Given the description of an element on the screen output the (x, y) to click on. 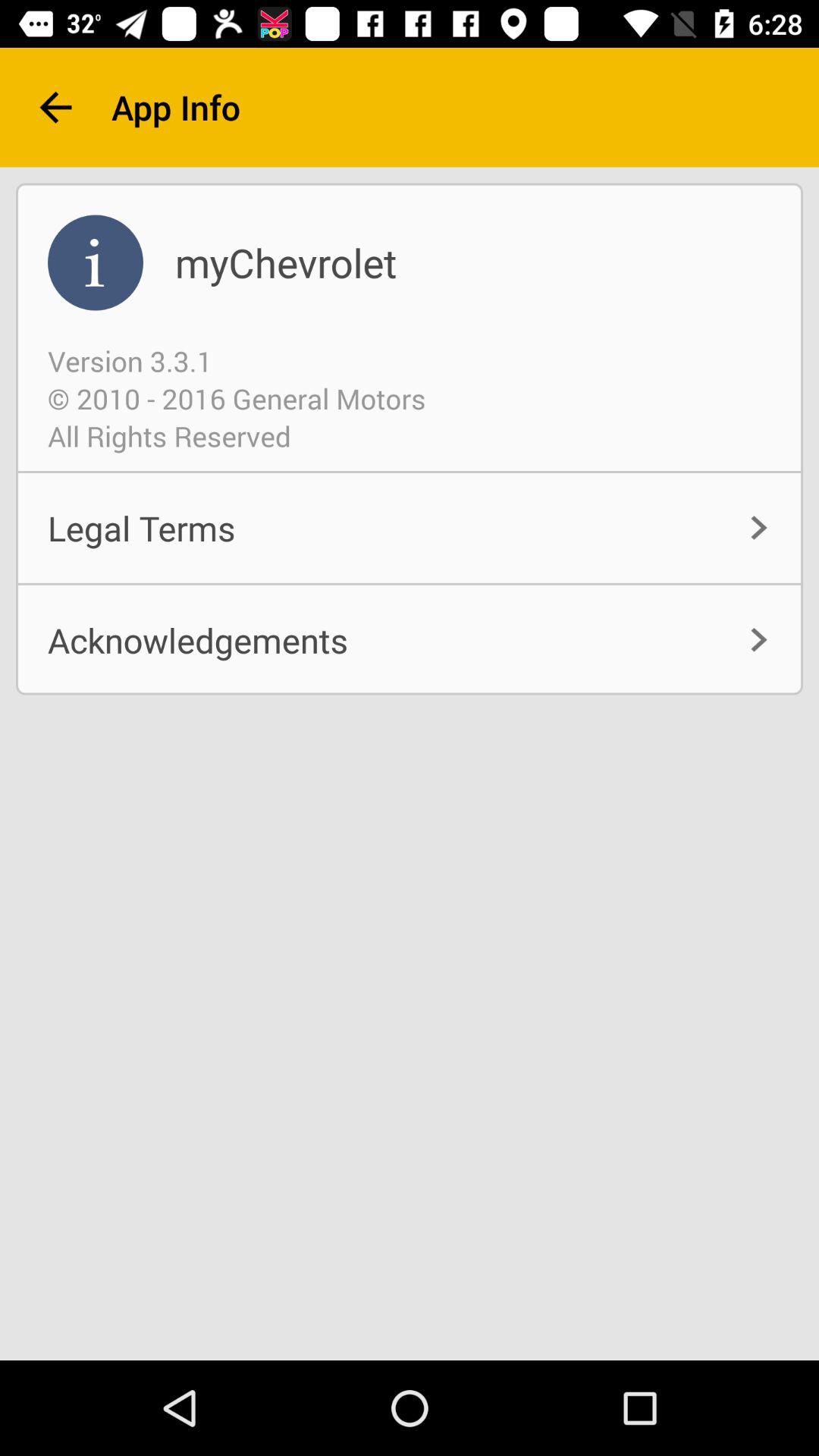
scroll to the legal terms item (409, 527)
